Given the description of an element on the screen output the (x, y) to click on. 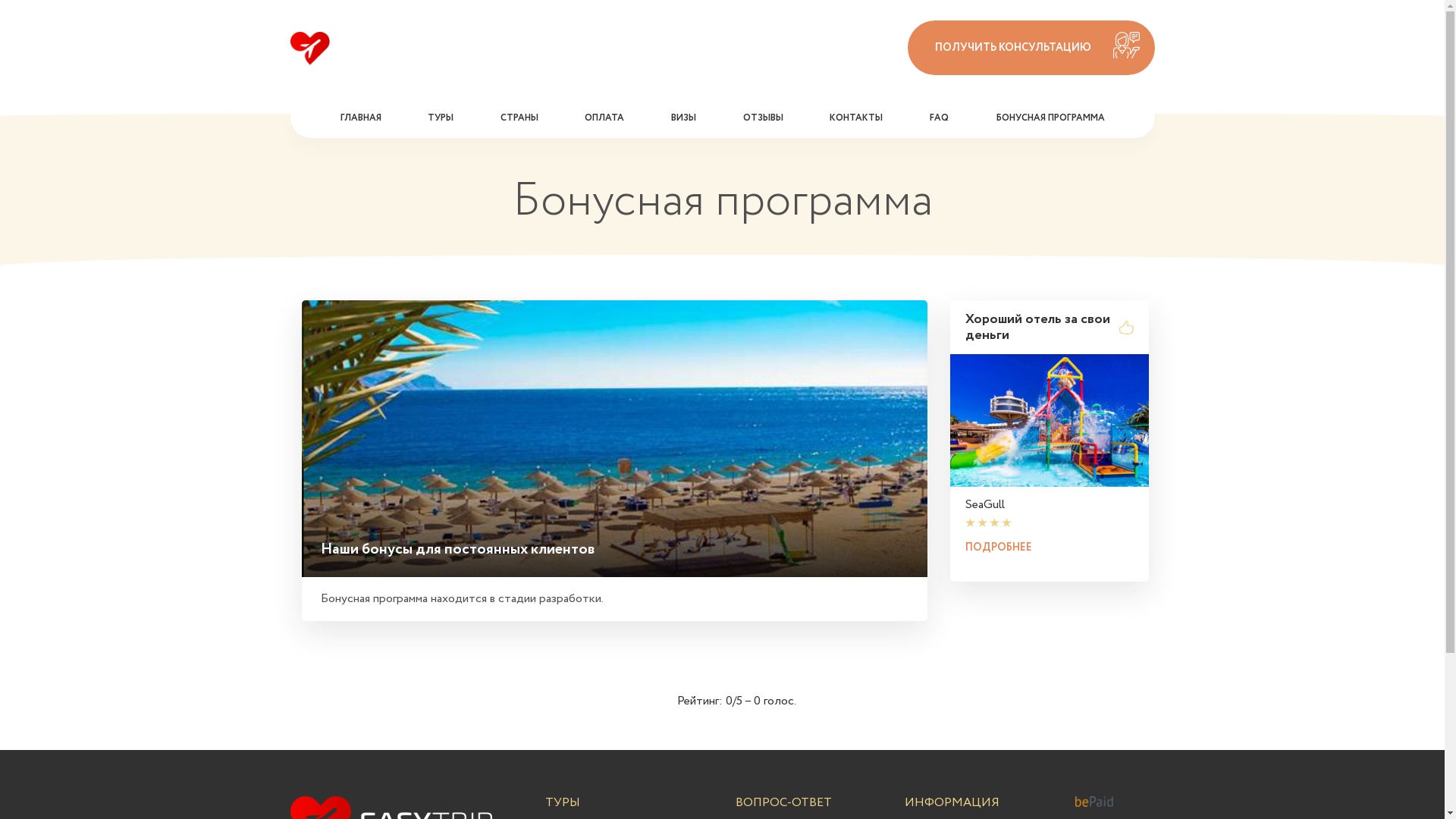
+375 33 395 95 62 Element type: text (800, 61)
+375 29 655 95 62 Element type: text (800, 32)
FAQ Element type: text (938, 117)
